Given the description of an element on the screen output the (x, y) to click on. 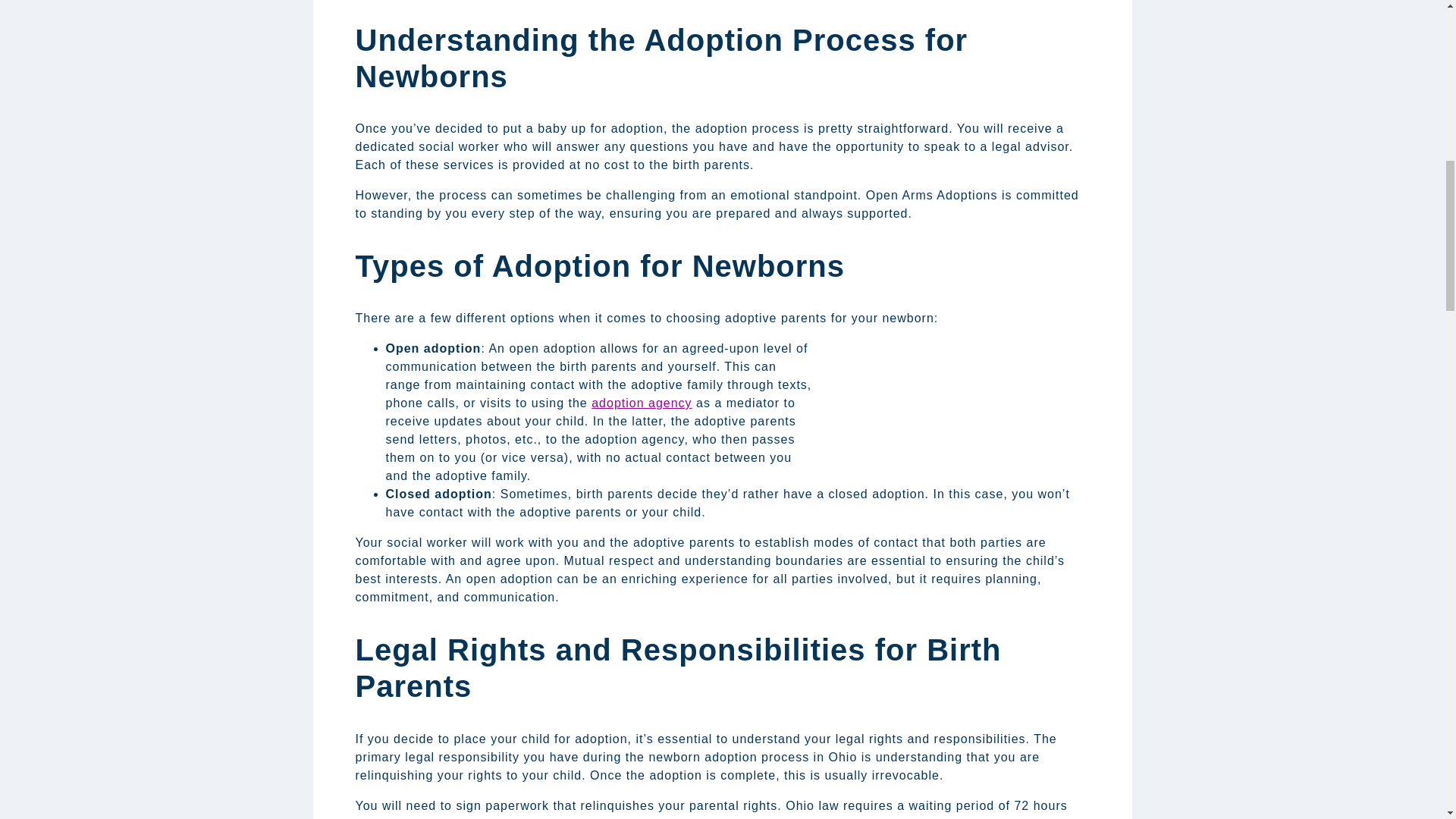
adoption agency (641, 402)
